Given the description of an element on the screen output the (x, y) to click on. 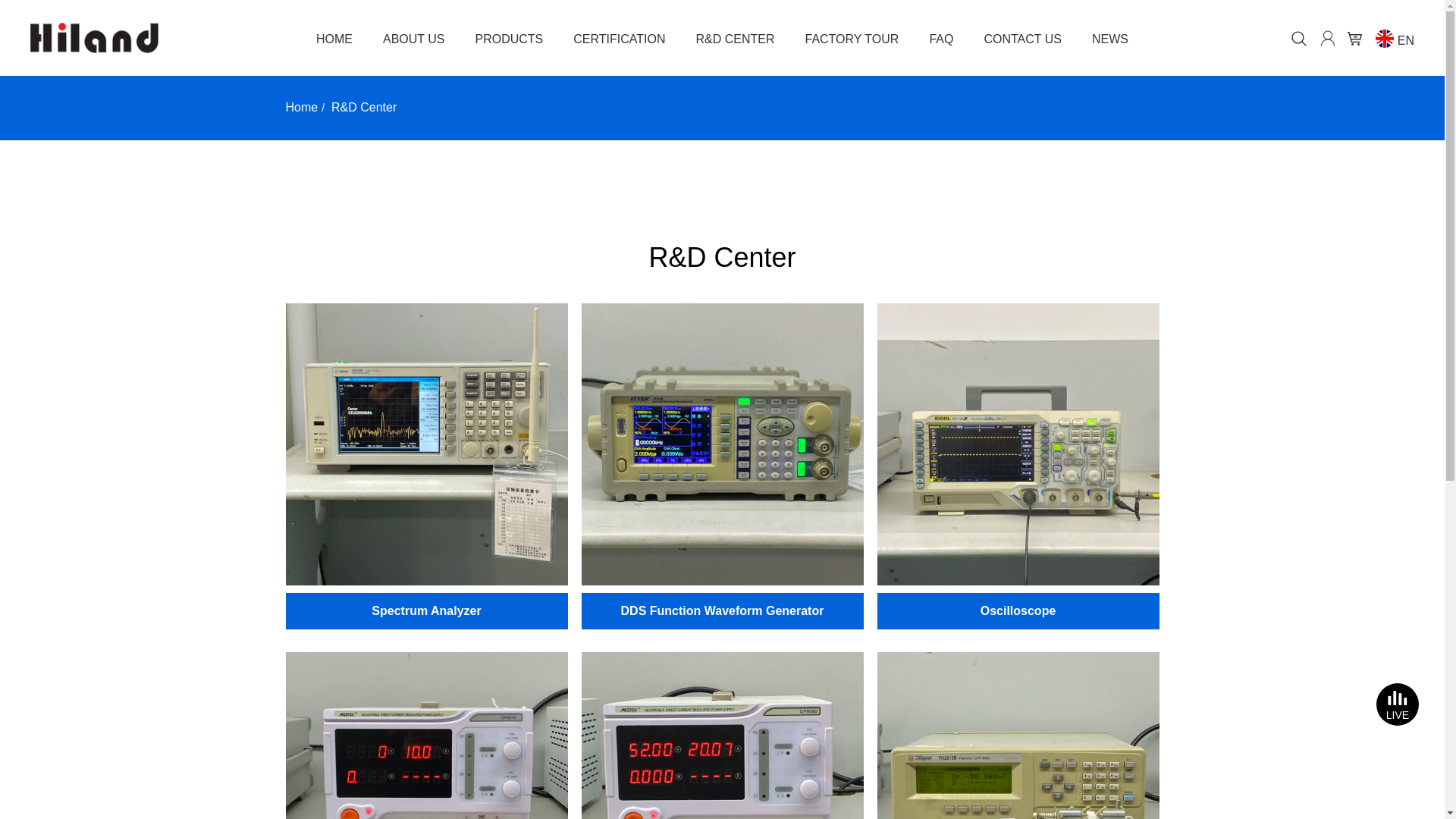
ABOUT US Element type: text (413, 34)
PRODUCTS Element type: text (509, 34)
R&D Center Element type: text (363, 106)
hiland Element type: hover (94, 37)
LIVE Element type: text (1397, 704)
CONTACT US Element type: text (1022, 34)
FACTORY TOUR Element type: text (851, 34)
FAQ Element type: text (940, 34)
NEWS Element type: text (1109, 34)
R&D CENTER Element type: text (734, 34)
HOME Element type: text (334, 34)
Home Element type: text (301, 106)
CERTIFICATION Element type: text (619, 34)
